Given the description of an element on the screen output the (x, y) to click on. 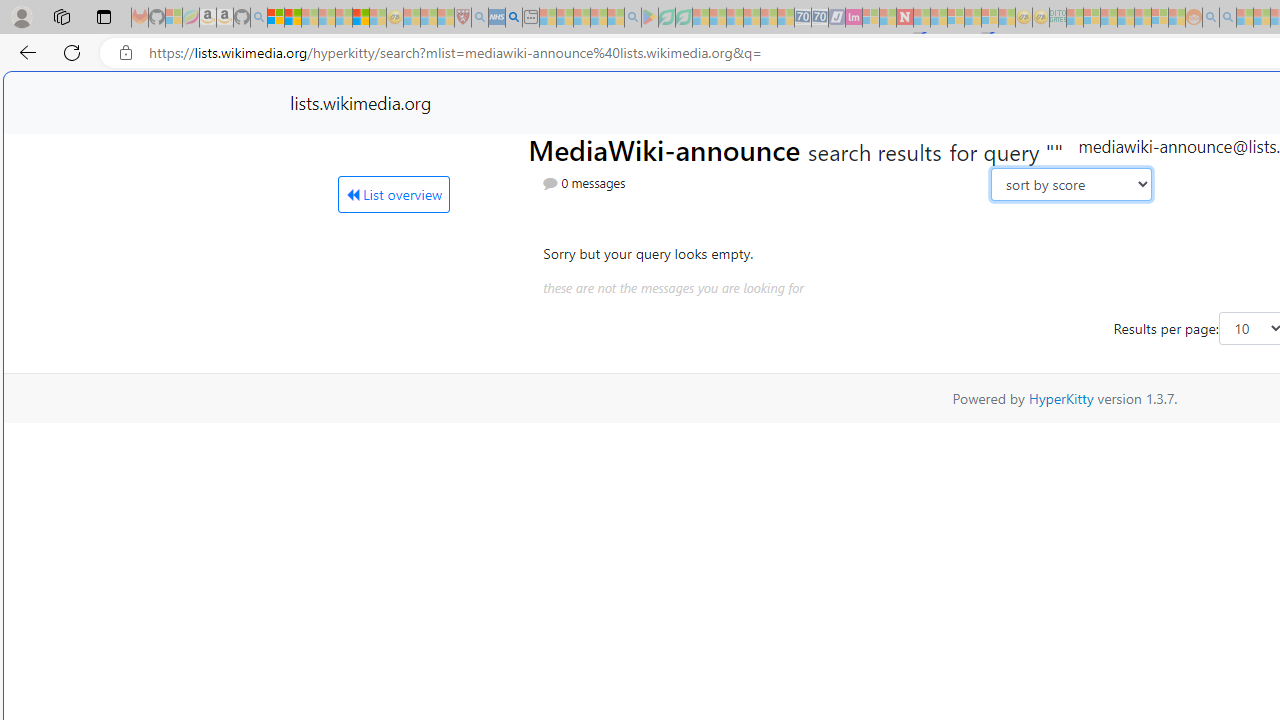
HyperKitty (1060, 398)
